Given the description of an element on the screen output the (x, y) to click on. 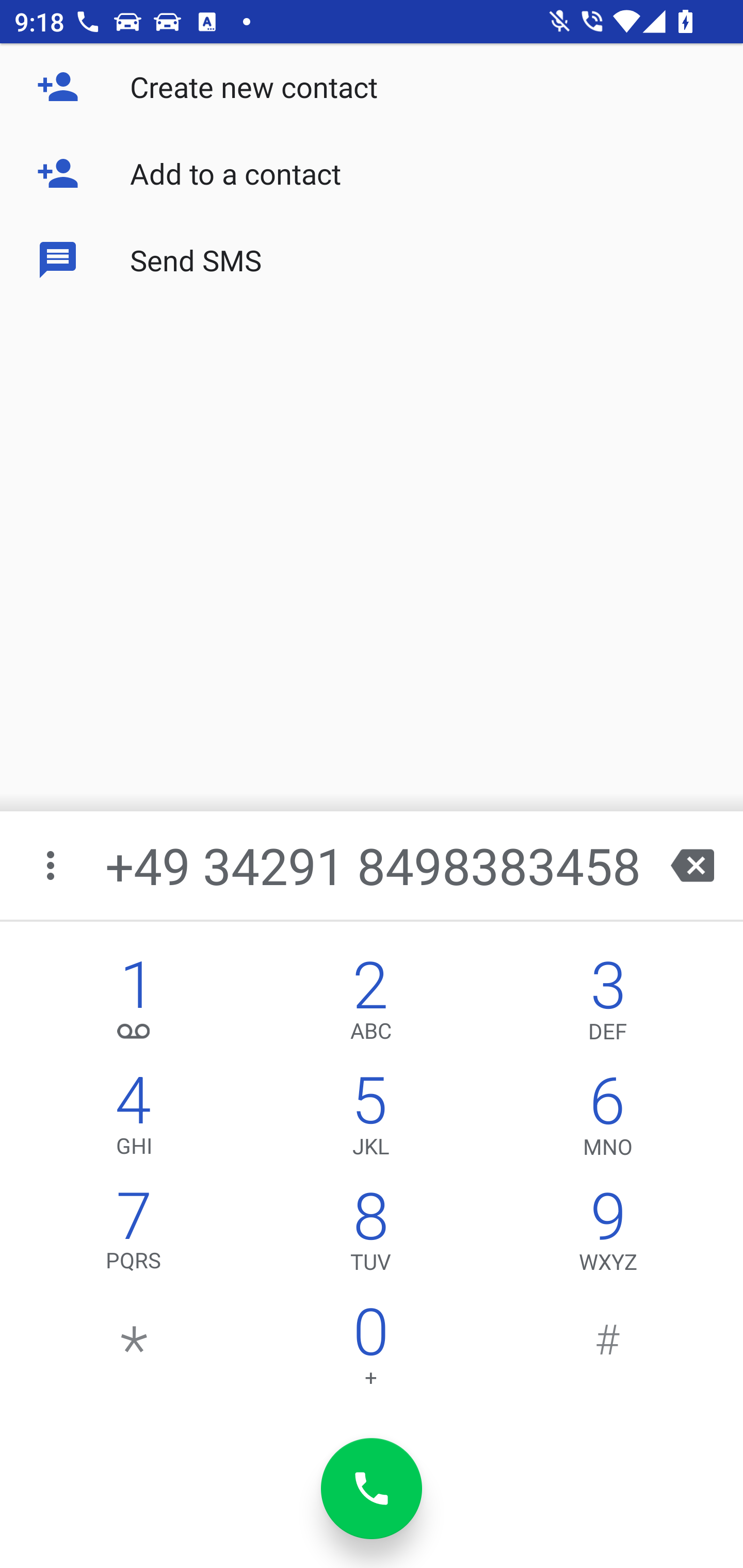
Create new contact (371, 86)
Add to a contact (371, 173)
Send SMS (371, 259)
+49 34291 8498383458 (372, 865)
backspace (692, 865)
More options (52, 865)
1, 1 (133, 1005)
2,ABC 2 ABC (370, 1005)
3,DEF 3 DEF (607, 1005)
4,GHI 4 GHI (133, 1120)
5,JKL 5 JKL (370, 1120)
6,MNO 6 MNO (607, 1120)
7,PQRS 7 PQRS (133, 1235)
8,TUV 8 TUV (370, 1235)
9,WXYZ 9 WXYZ (607, 1235)
* (133, 1351)
0 0 + (370, 1351)
# (607, 1351)
dial (371, 1488)
